Given the description of an element on the screen output the (x, y) to click on. 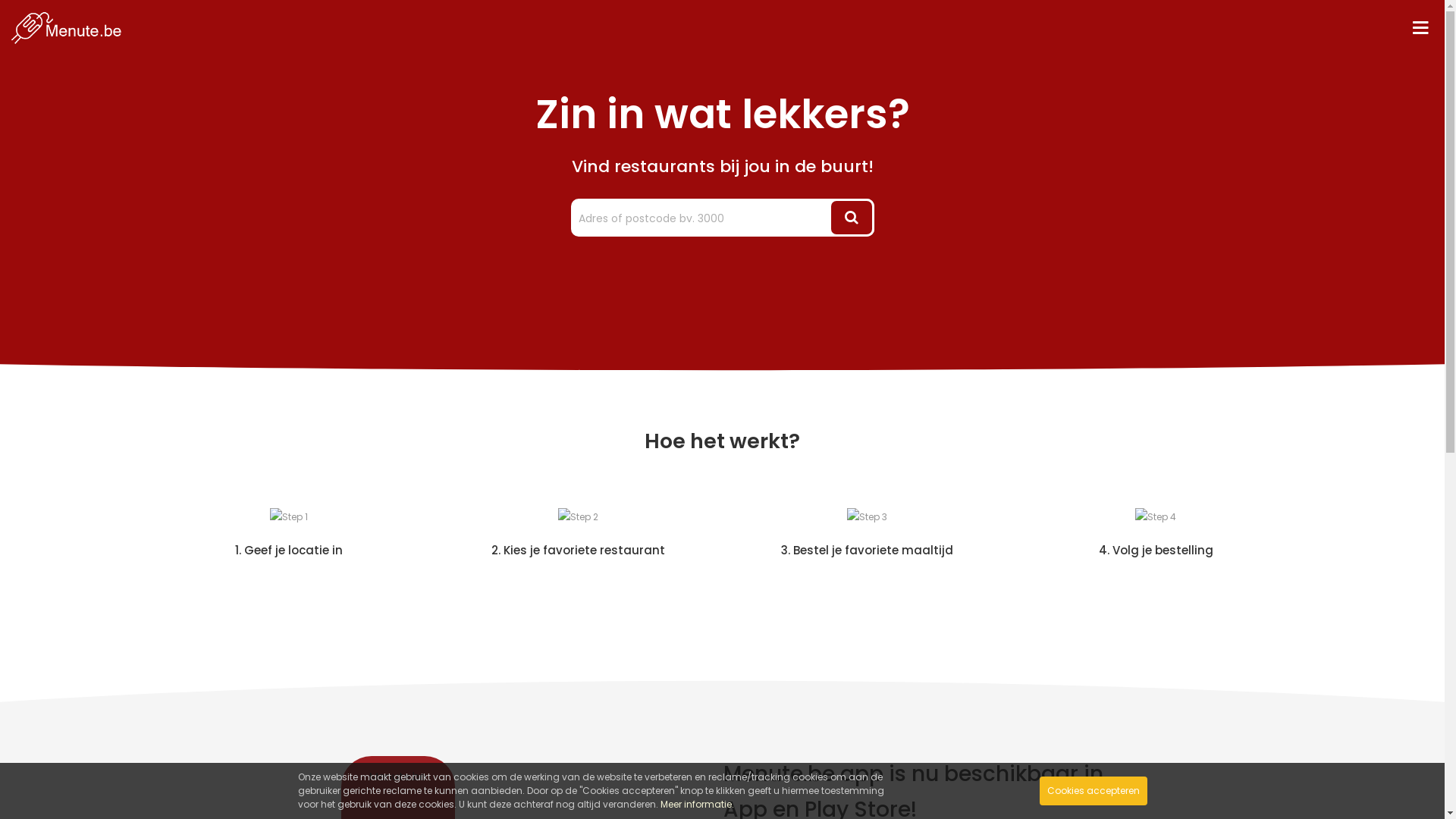
Meer informatie. Element type: text (696, 803)
Step 1 Element type: hover (288, 517)
Step 2 Element type: hover (578, 517)
Step 3 Element type: hover (866, 517)
Step 4 Element type: hover (1155, 517)
Cookies accepteren Element type: text (1092, 790)
